Given the description of an element on the screen output the (x, y) to click on. 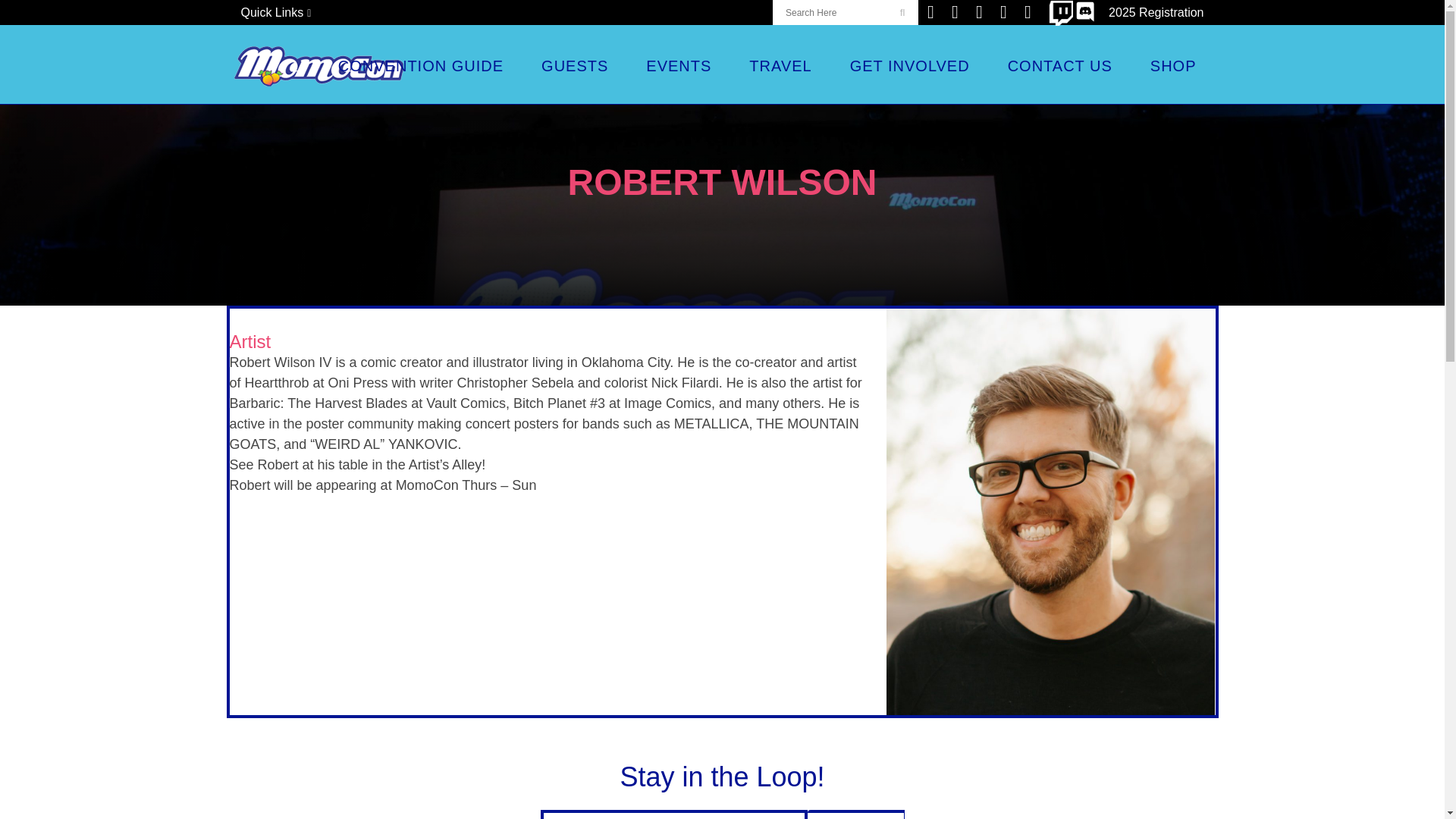
Sign Up (855, 814)
2025 Registration (1150, 12)
EVENTS (678, 65)
Quick Links (274, 12)
GUESTS (574, 65)
CONVENTION GUIDE (420, 65)
